Given the description of an element on the screen output the (x, y) to click on. 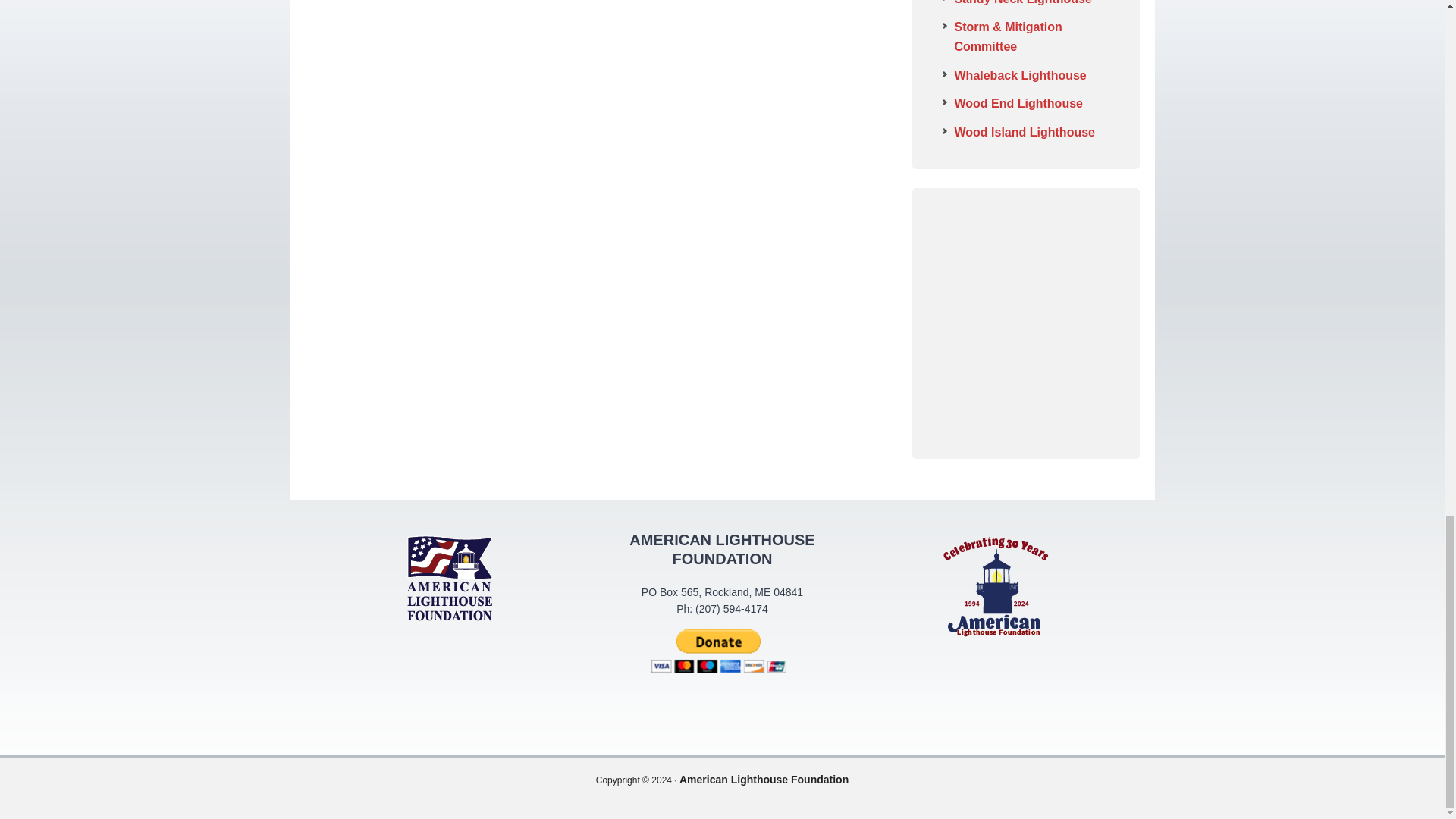
PayPal - The safer, easier way to pay online! (718, 650)
